Given the description of an element on the screen output the (x, y) to click on. 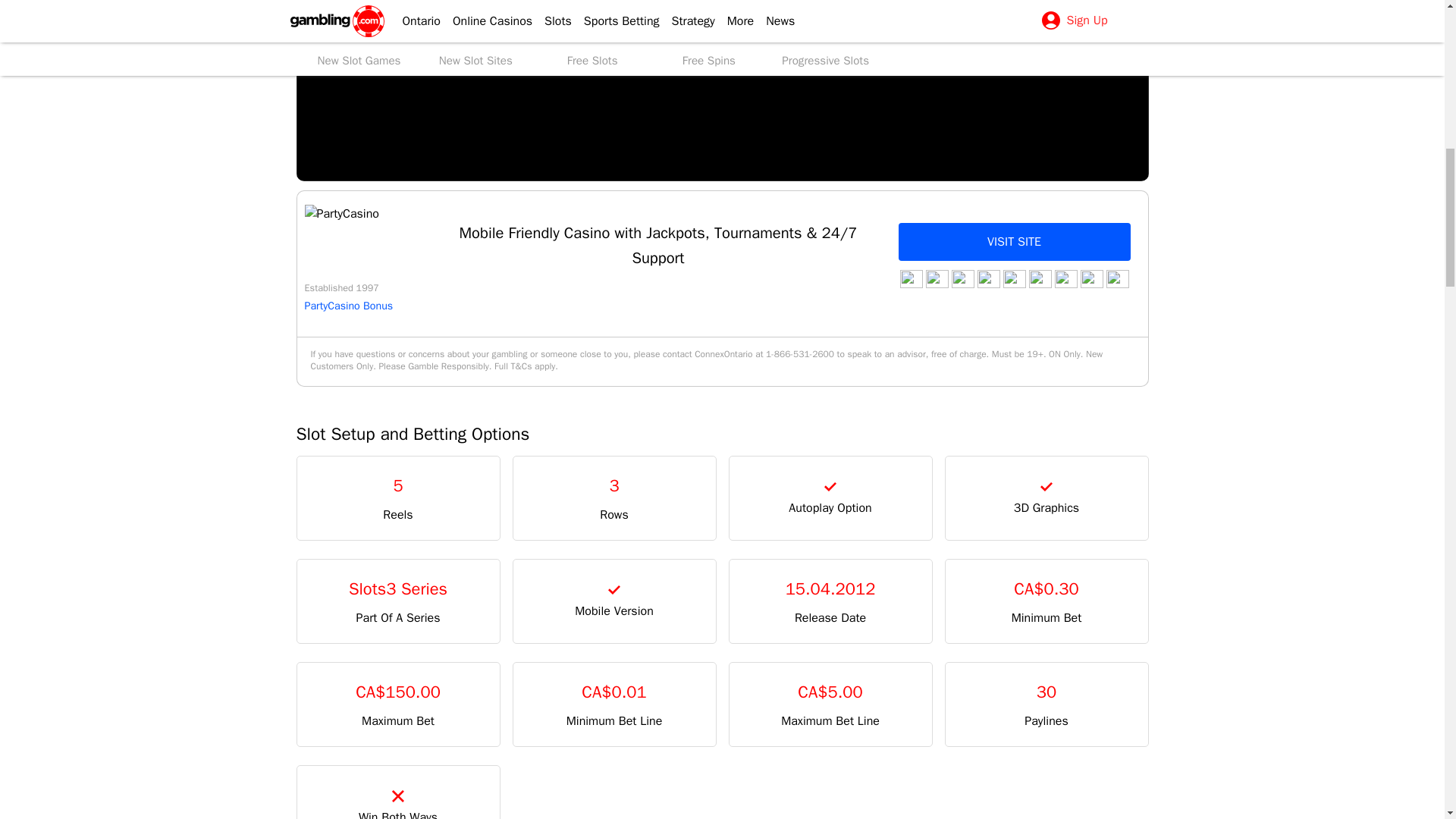
Skrill (1039, 279)
Visa Electron (1116, 279)
Visa Electron (962, 279)
VISA (1091, 279)
NETELLER (1014, 279)
Interac (910, 279)
PartyCasino (341, 214)
Interac (1065, 279)
Maestro (987, 279)
VISA (935, 279)
